Given the description of an element on the screen output the (x, y) to click on. 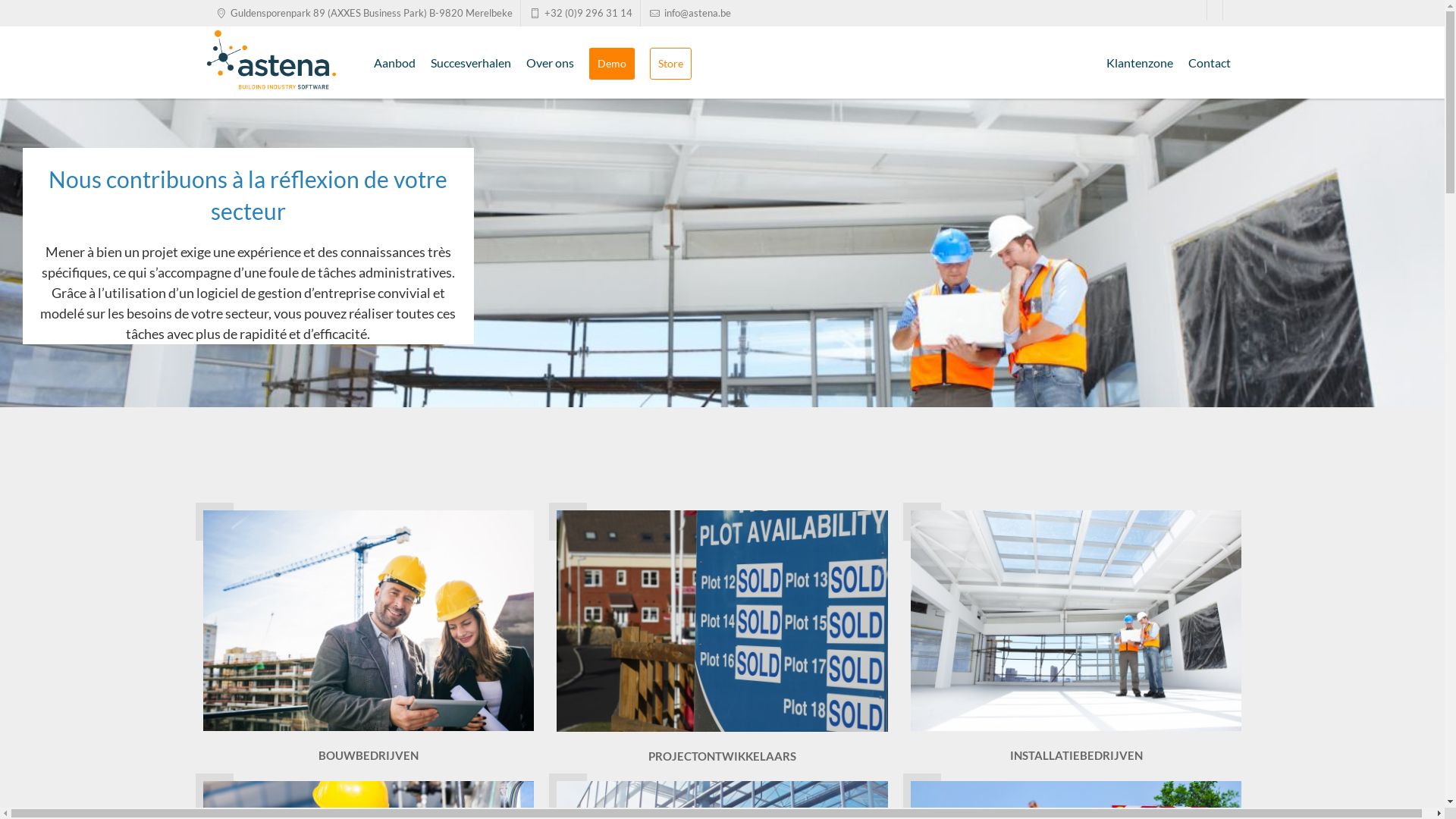
Guldensporenpark 89 (AXXES Business Park) B-9820 Merelbeke Element type: text (362, 12)
BOUWBEDRIJVEN Element type: text (368, 637)
Contact Element type: text (1208, 62)
info@astena.be Element type: text (689, 12)
+32 (0)9 296 31 14 Element type: text (580, 12)
Over ons Element type: text (549, 62)
Klantenzone Element type: text (1138, 62)
Store Element type: text (669, 63)
PROJECTONTWIKKELAARS Element type: text (722, 637)
Aanbod Element type: text (393, 62)
INSTALLATIEBEDRIJVEN Element type: text (1076, 637)
Succesverhalen Element type: text (470, 62)
